Given the description of an element on the screen output the (x, y) to click on. 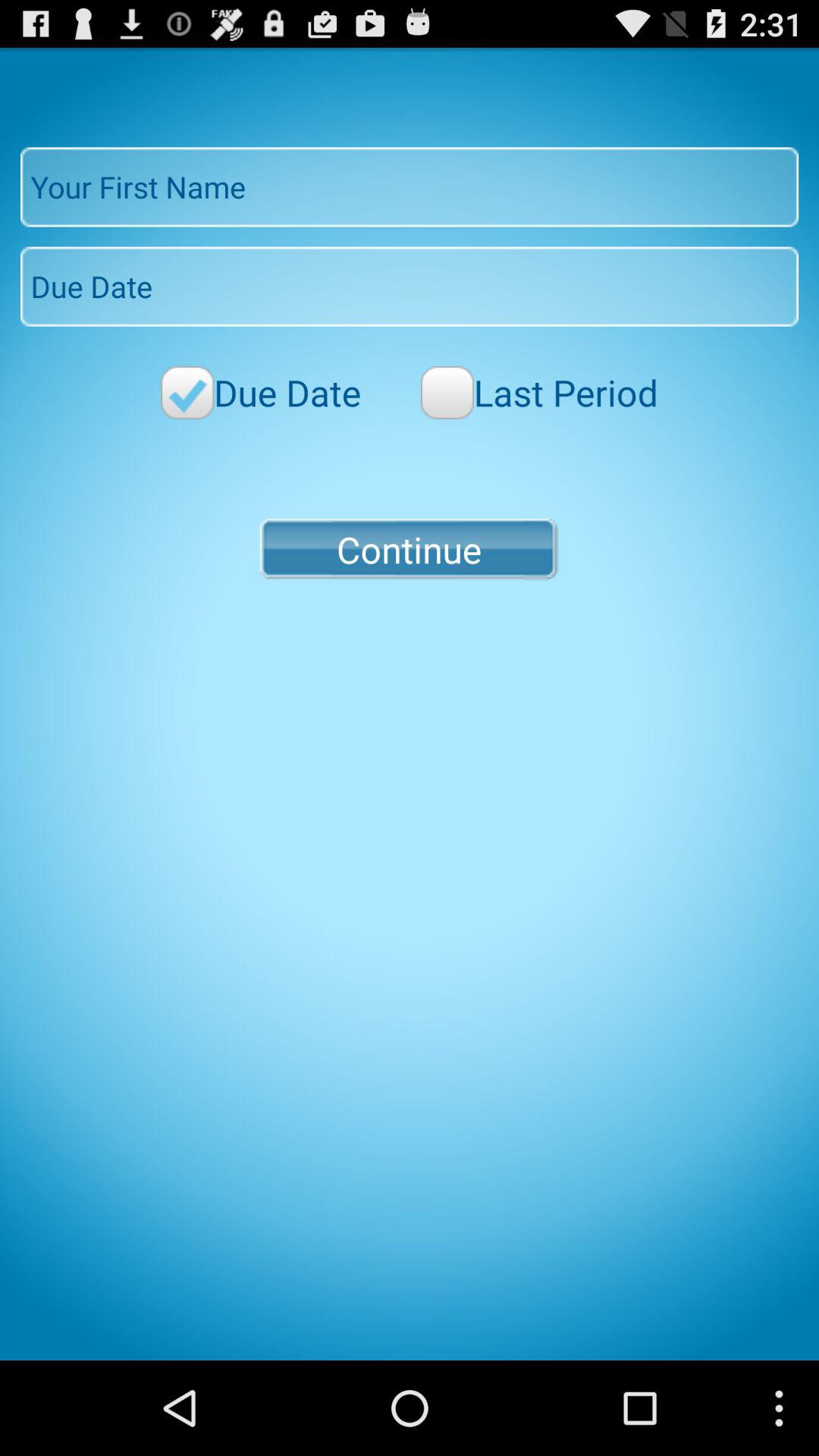
turn on the item below due date radio button (408, 549)
